Given the description of an element on the screen output the (x, y) to click on. 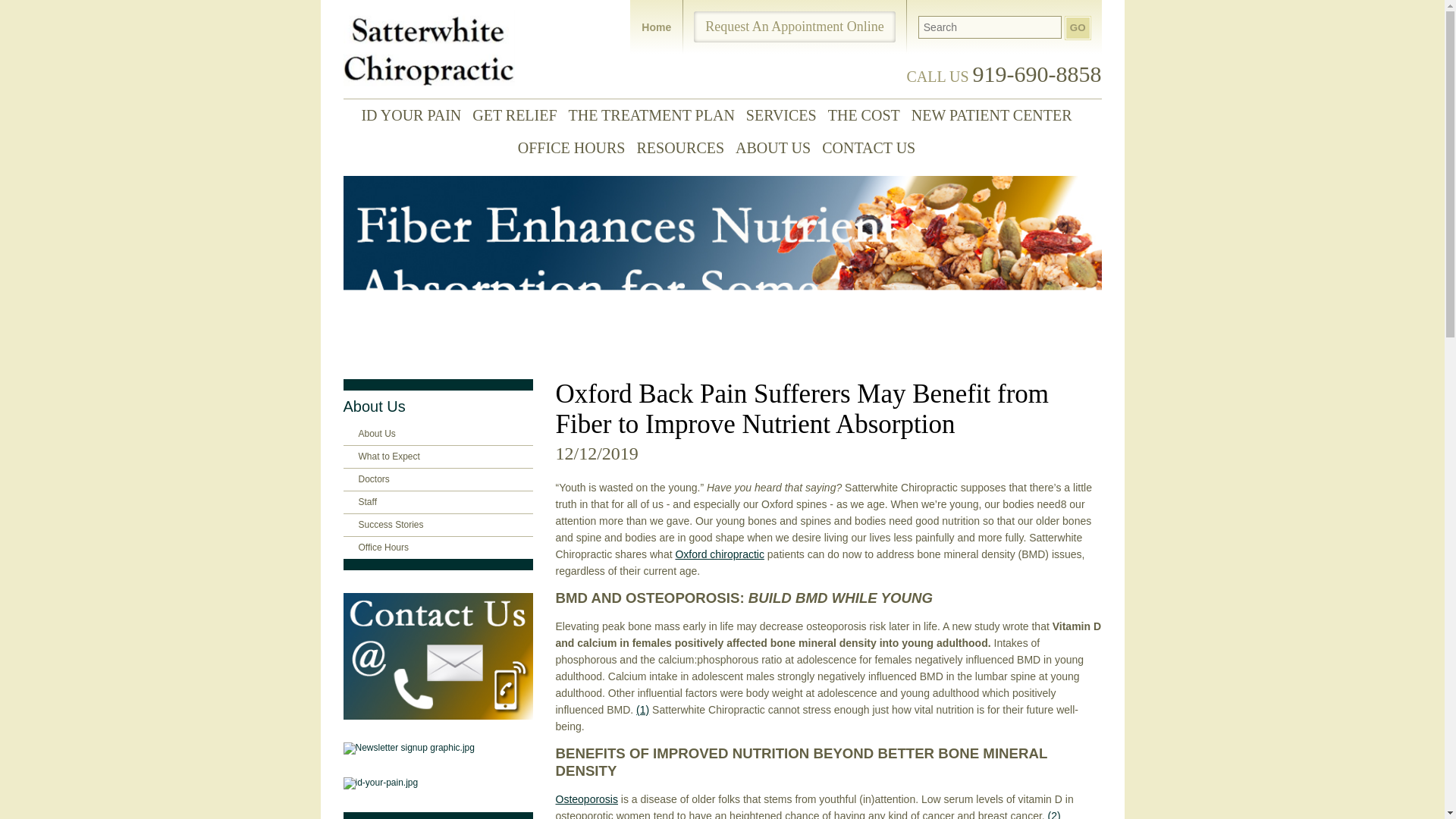
THE COST (869, 115)
Satterwhite Chiropractic (427, 48)
THE TREATMENT PLAN (657, 115)
contact-us-colors.jpg (437, 655)
Home (656, 27)
id-your-pain.jpg (437, 783)
Go (1077, 27)
ID YOUR PAIN (416, 115)
SERVICES (786, 115)
NEW PATIENT CENTER (997, 115)
